Given the description of an element on the screen output the (x, y) to click on. 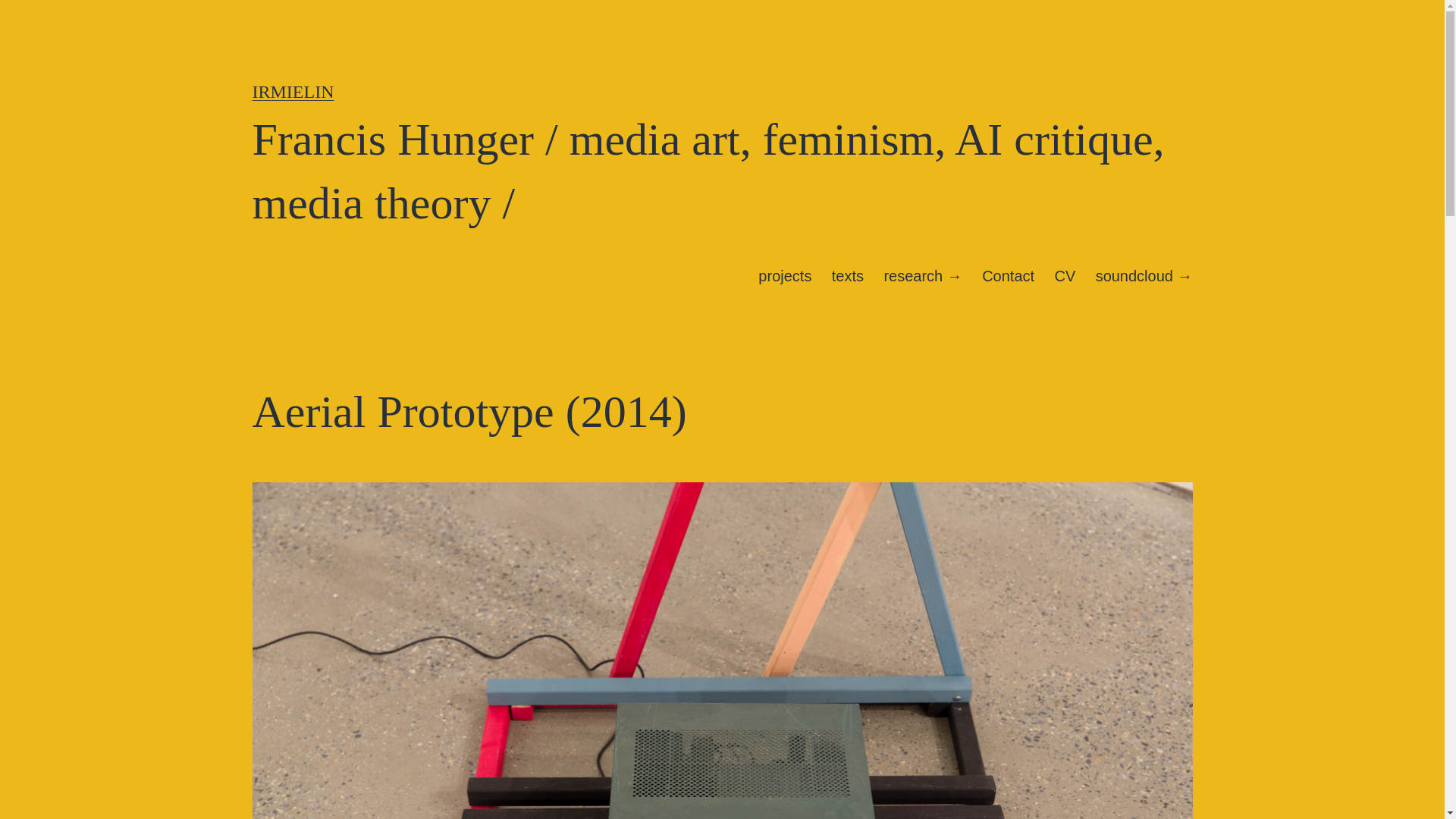
CV (1063, 275)
projects (784, 275)
texts (848, 275)
IRMIELIN (292, 91)
Contact (1007, 275)
